Given the description of an element on the screen output the (x, y) to click on. 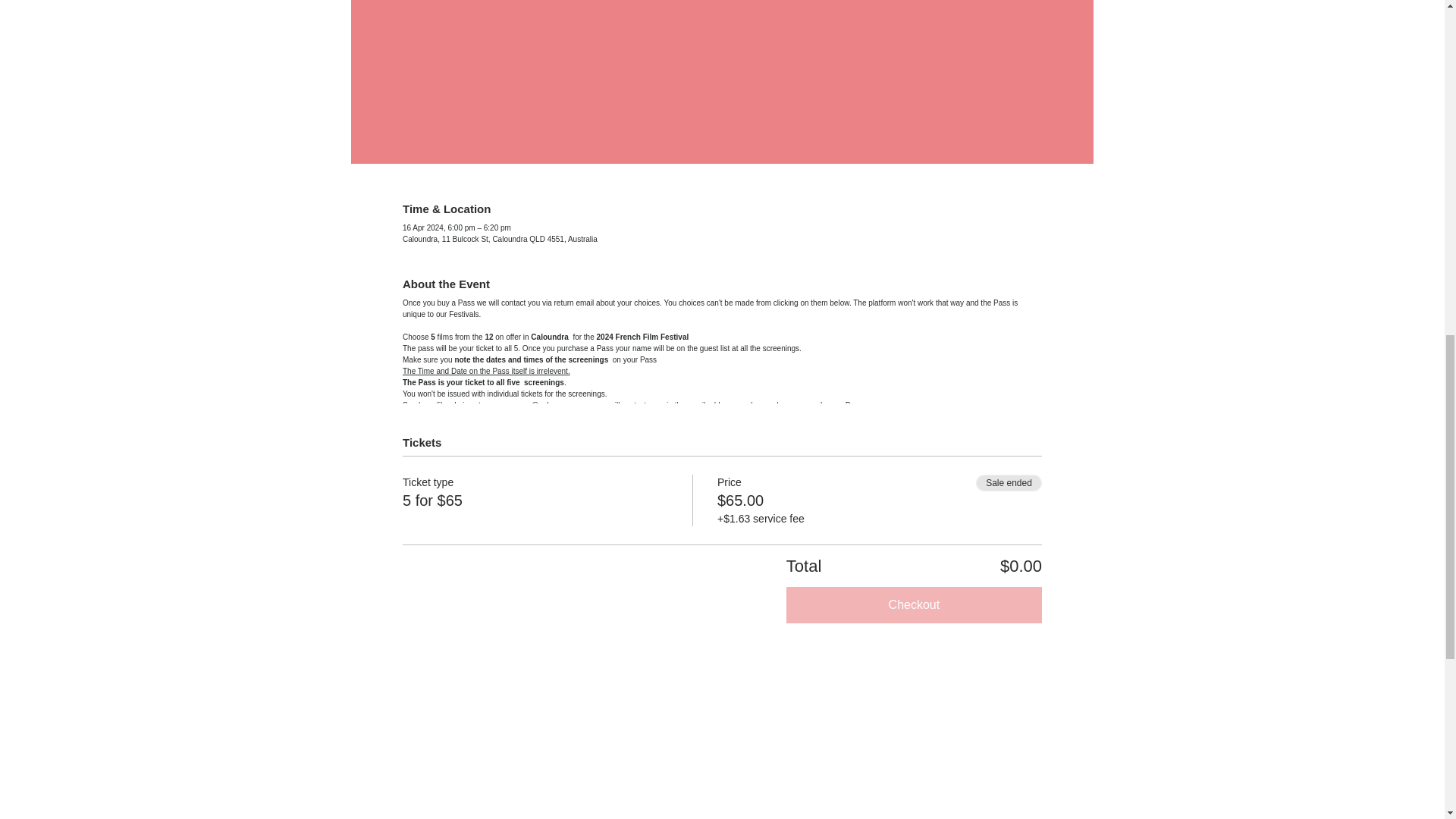
Checkout (914, 605)
